Given the description of an element on the screen output the (x, y) to click on. 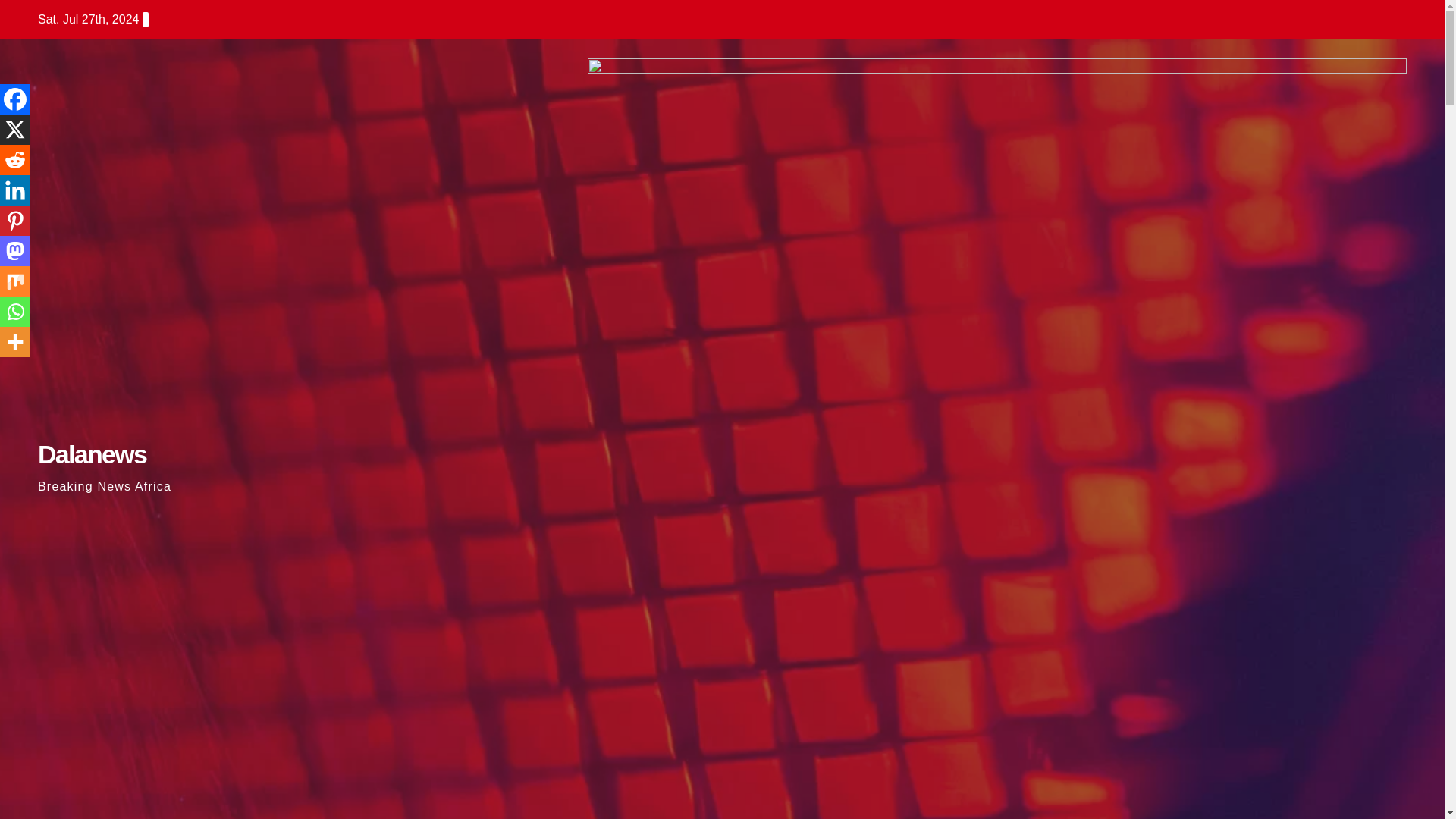
Linkedin (15, 190)
Reddit (15, 159)
X (15, 129)
Dalanews (92, 453)
Facebook (15, 99)
